Given the description of an element on the screen output the (x, y) to click on. 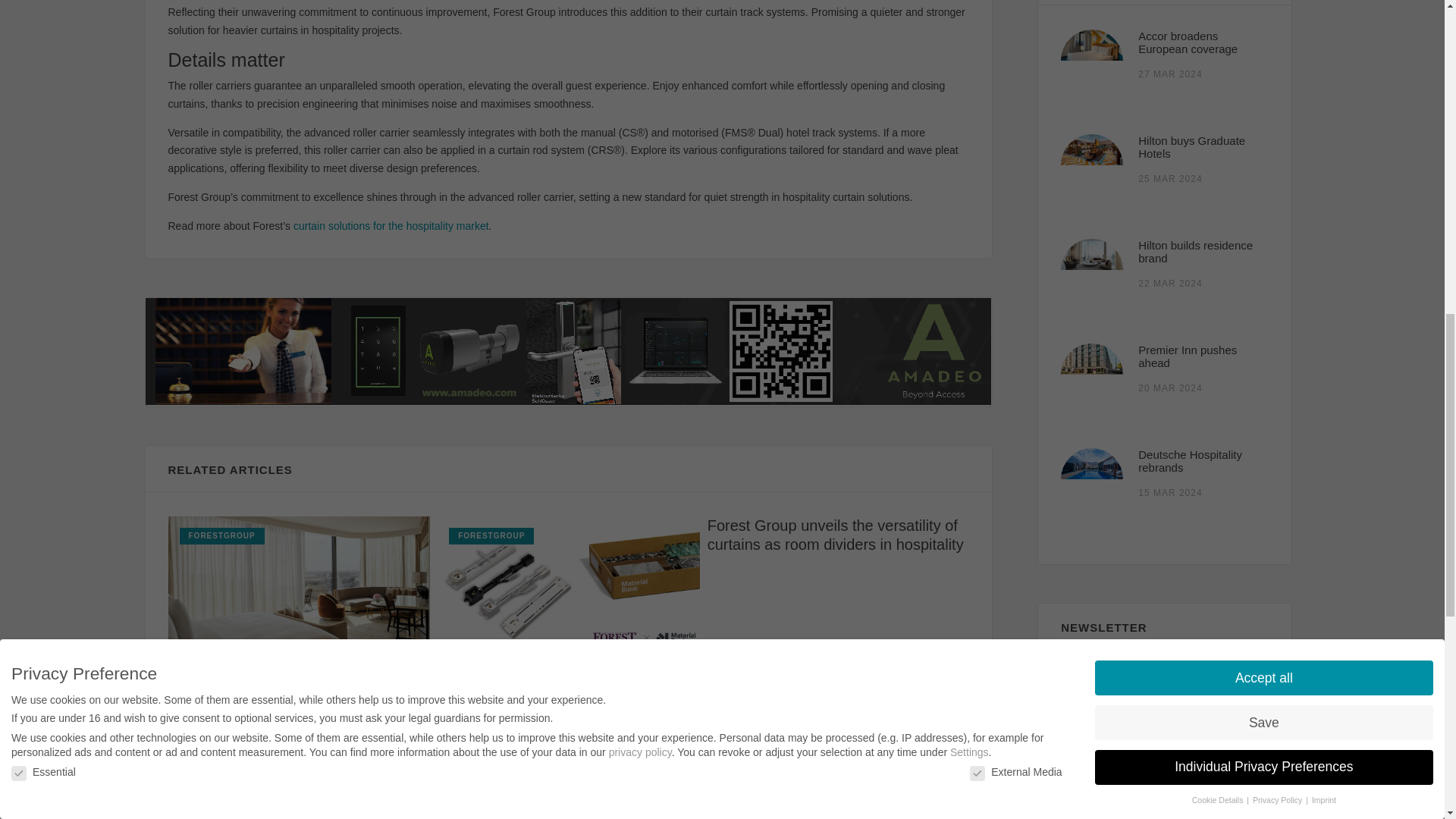
Hilton builds residence brand (1195, 251)
Accor broadens European coverage (1187, 42)
curtain solutions for the hospitality market (391, 225)
Deutsche Hospitality rebrands (1189, 460)
Premier Inn pushes ahead (1187, 356)
Hilton buys Graduate Hotels (1191, 146)
